Given the description of an element on the screen output the (x, y) to click on. 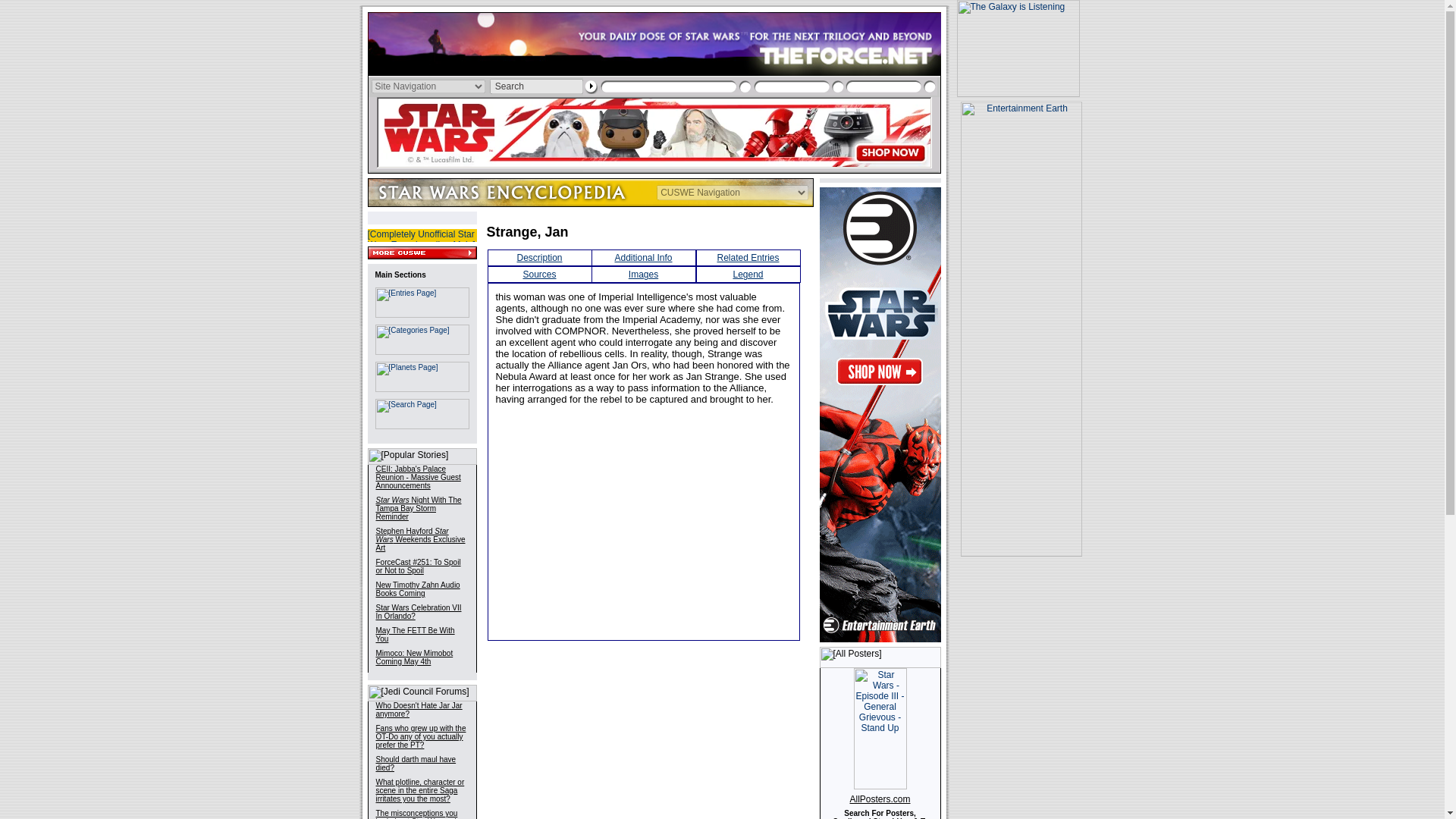
Related Entries (747, 257)
AllPosters.com (879, 798)
May The FETT Be With You (414, 634)
Should darth maul have died? (416, 763)
Images (643, 274)
Legend (747, 274)
CEII: Jabba's Palace Reunion - Massive Guest Announcements (418, 477)
Sources (539, 274)
Who Doesn't Hate Jar Jar anymore? (419, 709)
